Given the description of an element on the screen output the (x, y) to click on. 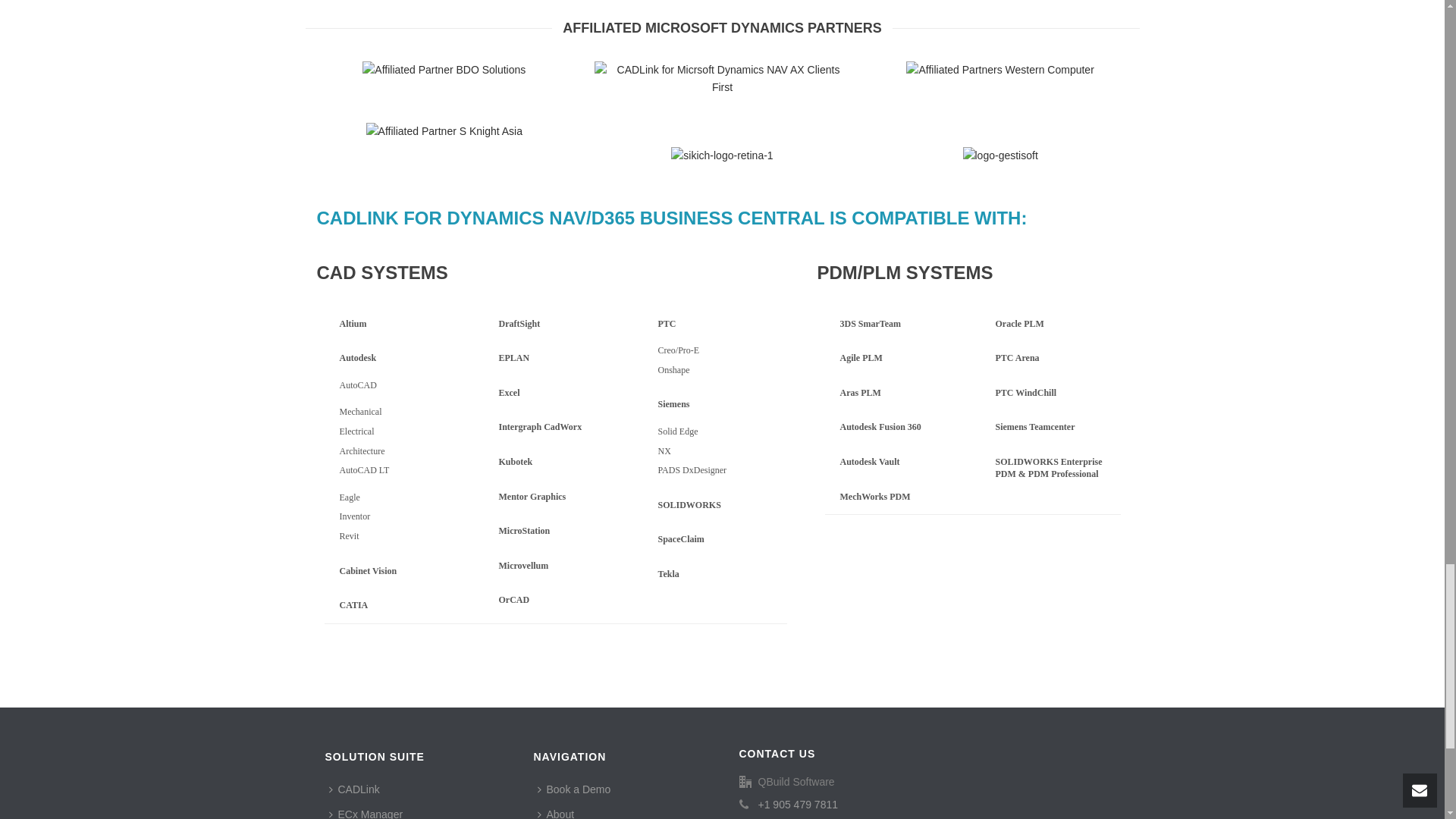
sikich-logo-retina-1 (722, 155)
CADLink for Micrsoft Dynamics NAV AX First (722, 78)
Western Computer (999, 69)
logo-gestisoft (1000, 155)
Affiliated Partner S Knight Asia (444, 131)
Affiliated Partner BDO Solutions (443, 69)
